Given the description of an element on the screen output the (x, y) to click on. 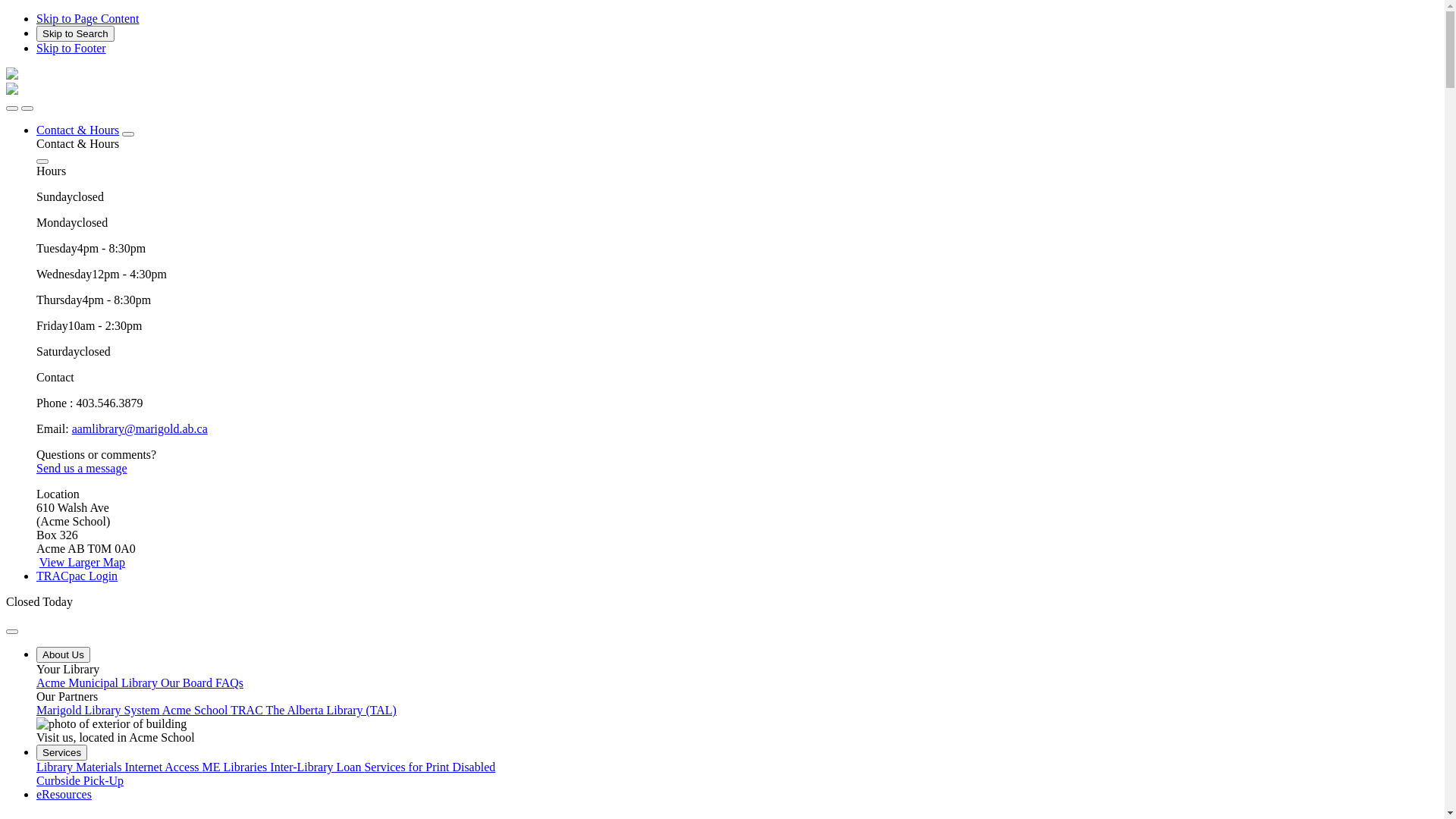
FAQs Element type: text (229, 682)
TRAC Element type: text (247, 709)
About Us Element type: text (63, 654)
Curbside Pick-Up Element type: text (79, 780)
Skip to Page Content Element type: text (87, 18)
eResources Element type: text (63, 793)
Services for Print Disabled Element type: text (429, 766)
ME Libraries Element type: text (236, 766)
The Alberta Library (TAL) Element type: text (331, 709)
Acme School Element type: text (196, 709)
View Larger Map Element type: text (82, 561)
Acme Municipal Library Element type: text (98, 682)
Inter-Library Loan Element type: text (316, 766)
TRACpac Login Element type: text (76, 575)
Marigold Library System Element type: text (99, 709)
Services Element type: text (61, 752)
Skip to Search Element type: text (75, 33)
Acme Municipal Library Element type: hover (12, 90)
Internet Access Element type: text (162, 766)
Send us a message Element type: text (81, 467)
Library Materials Element type: text (80, 766)
Contact & Hours Element type: text (77, 129)
Skip to Footer Element type: text (71, 47)
Our Board Element type: text (187, 682)
aamlibrary@marigold.ab.ca Element type: text (139, 428)
